Given the description of an element on the screen output the (x, y) to click on. 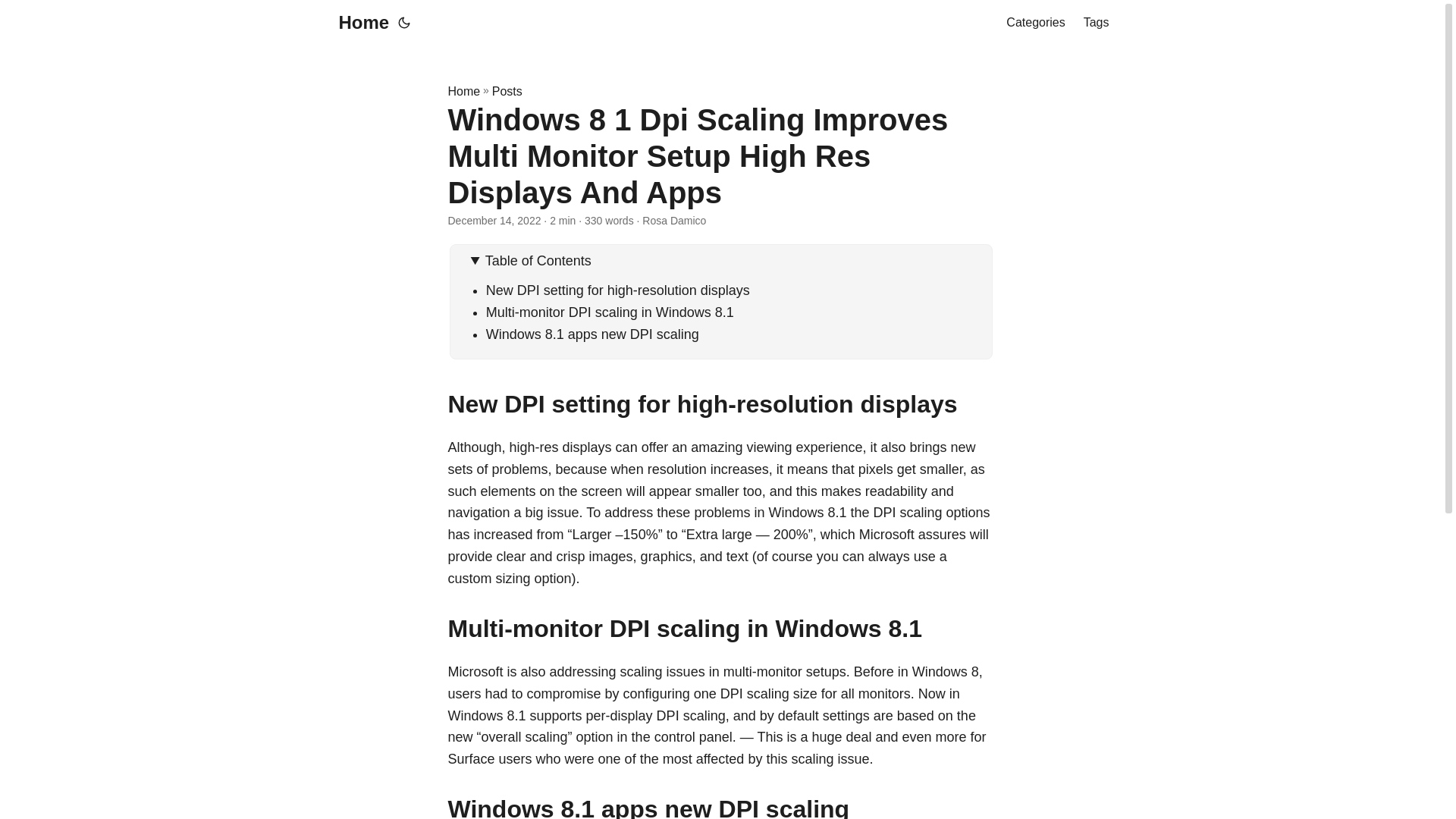
Home (359, 22)
Posts (507, 91)
Home (463, 91)
Categories (1035, 22)
New DPI setting for high-resolution displays (617, 290)
Windows 8.1 apps new DPI scaling (592, 334)
Categories (1035, 22)
Multi-monitor DPI scaling in Windows 8.1 (609, 312)
